Given the description of an element on the screen output the (x, y) to click on. 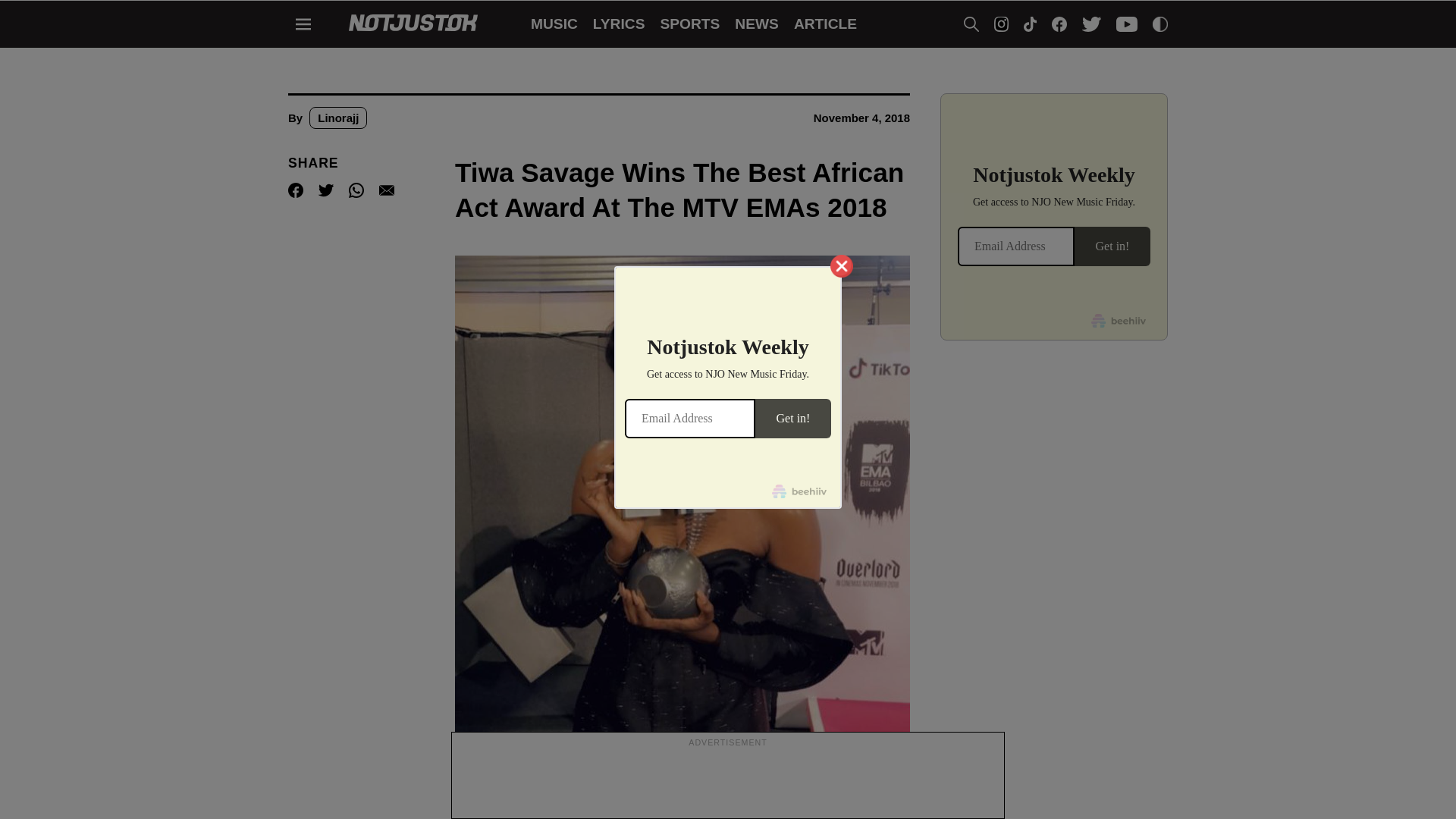
SPORTS (689, 23)
ARTICLE (825, 23)
Linorajj (337, 117)
NEWS (756, 23)
LYRICS (618, 23)
MUSIC (554, 23)
Posts by Linorajj (337, 117)
